Given the description of an element on the screen output the (x, y) to click on. 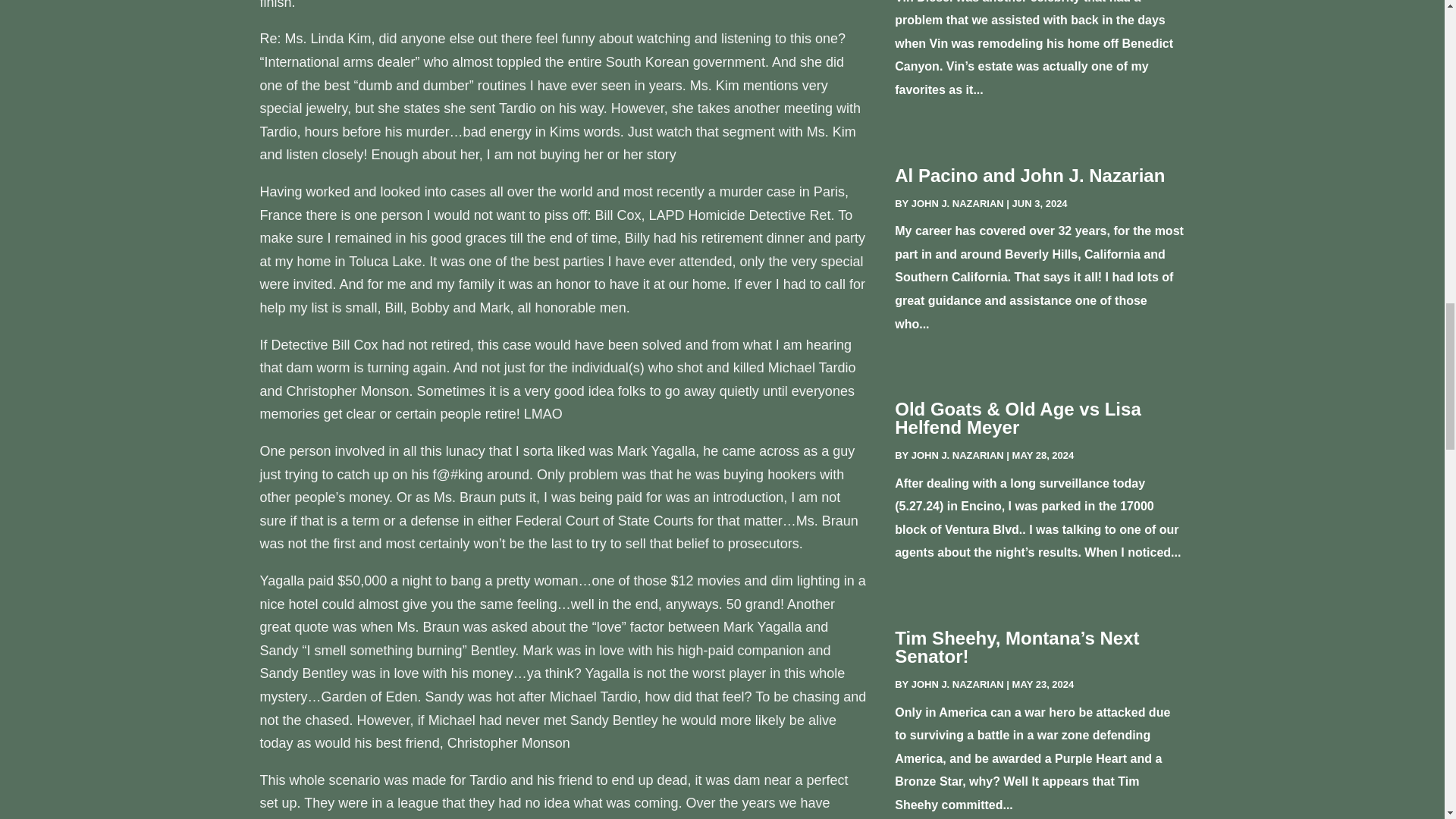
Al Pacino and John J. Nazarian (1029, 175)
JOHN J. NAZARIAN (957, 455)
JOHN J. NAZARIAN (957, 684)
JOHN J. NAZARIAN (957, 203)
Posts by John J. Nazarian (957, 203)
Posts by John J. Nazarian (957, 684)
Posts by John J. Nazarian (957, 455)
